Given the description of an element on the screen output the (x, y) to click on. 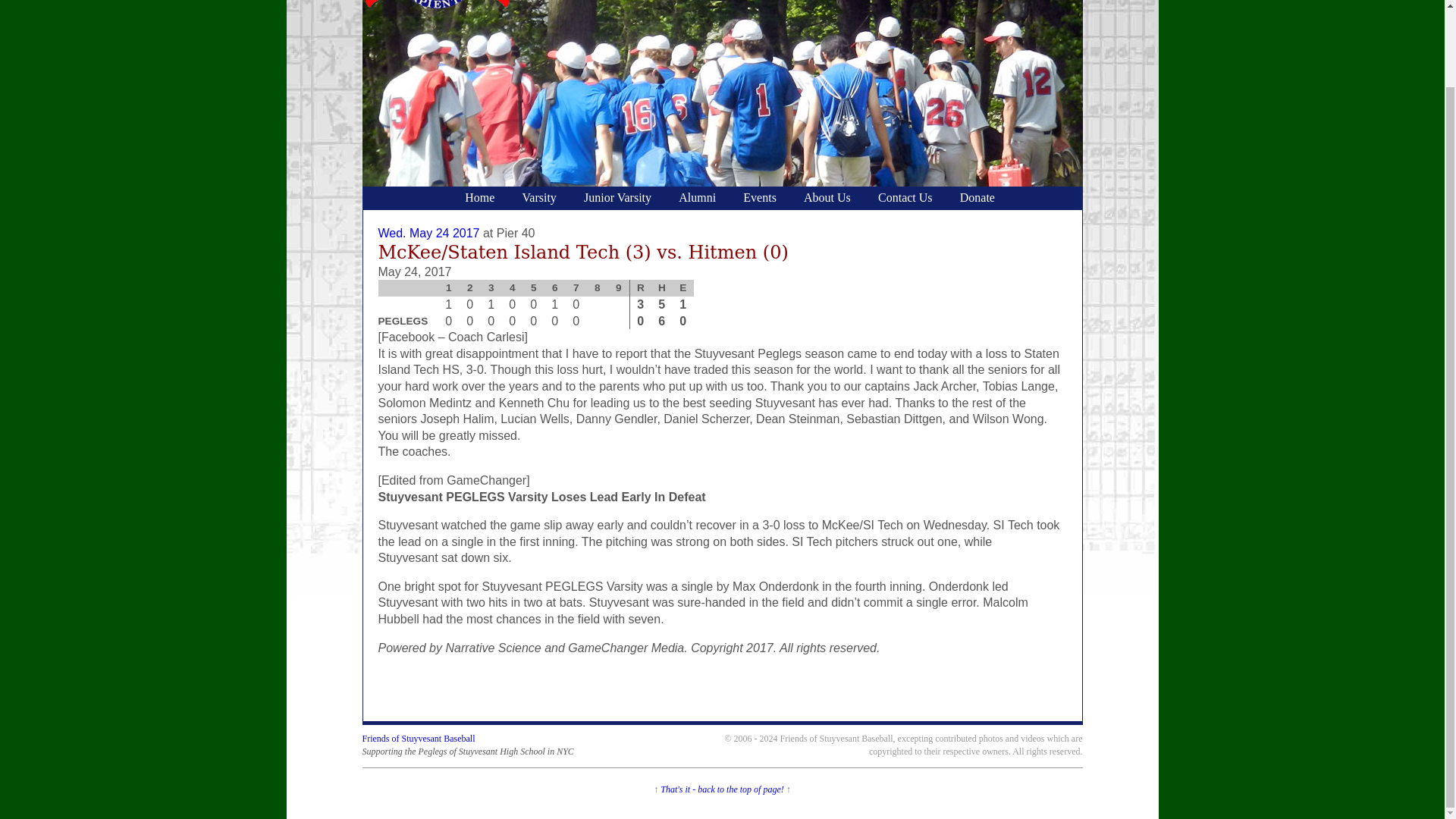
To page top (722, 788)
Junior Varsity (618, 198)
Alumni (697, 198)
That's it - back to the top of page! (722, 788)
Home (479, 198)
Contact Us (905, 198)
Wed. May 24 2017 (428, 232)
Events (759, 198)
Varsity (538, 198)
About Us (827, 198)
Friends of Stuyvesant Baseball (419, 738)
Donate (977, 198)
